Given the description of an element on the screen output the (x, y) to click on. 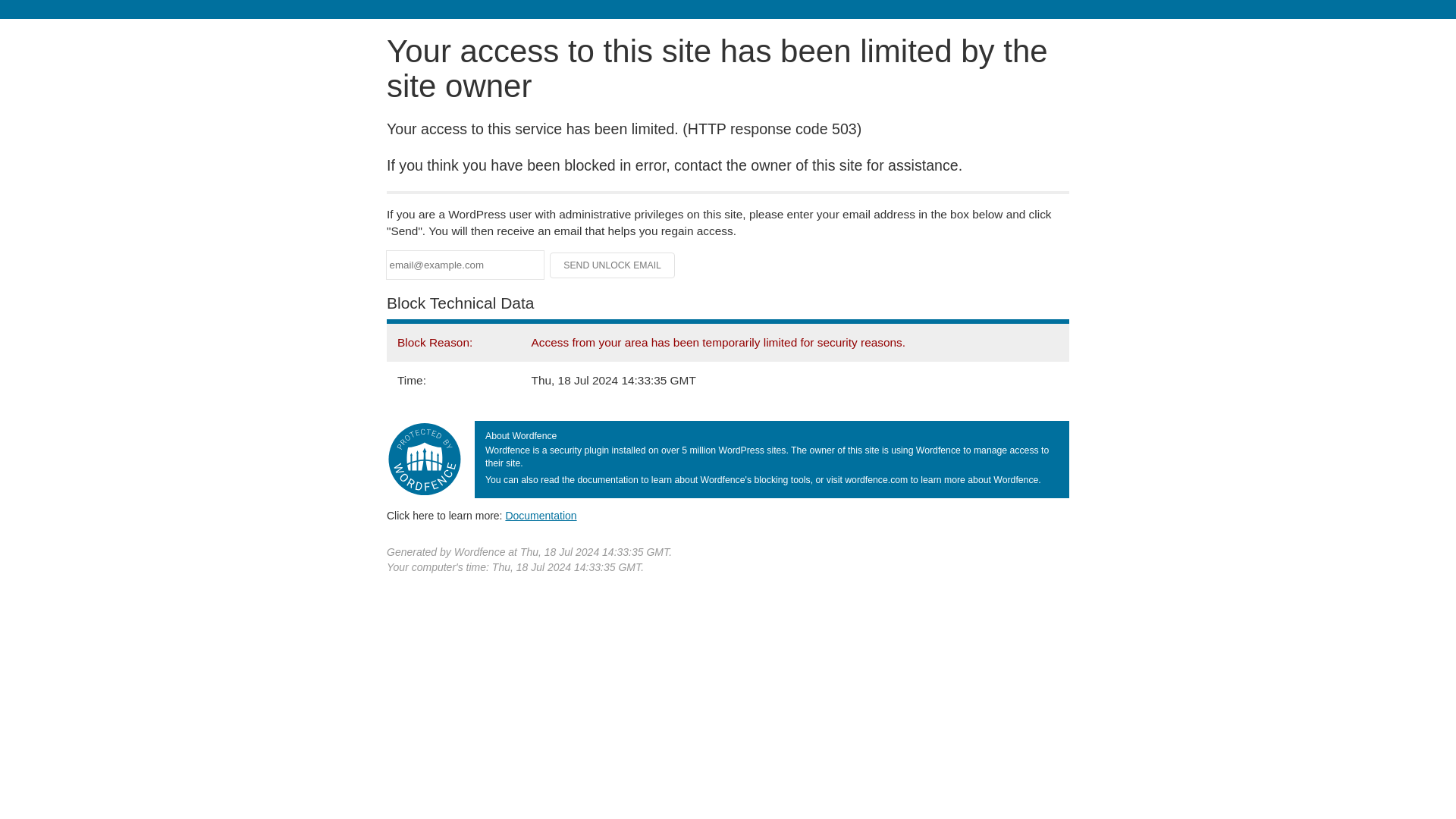
Send Unlock Email (612, 265)
Documentation (540, 515)
Send Unlock Email (612, 265)
